Given the description of an element on the screen output the (x, y) to click on. 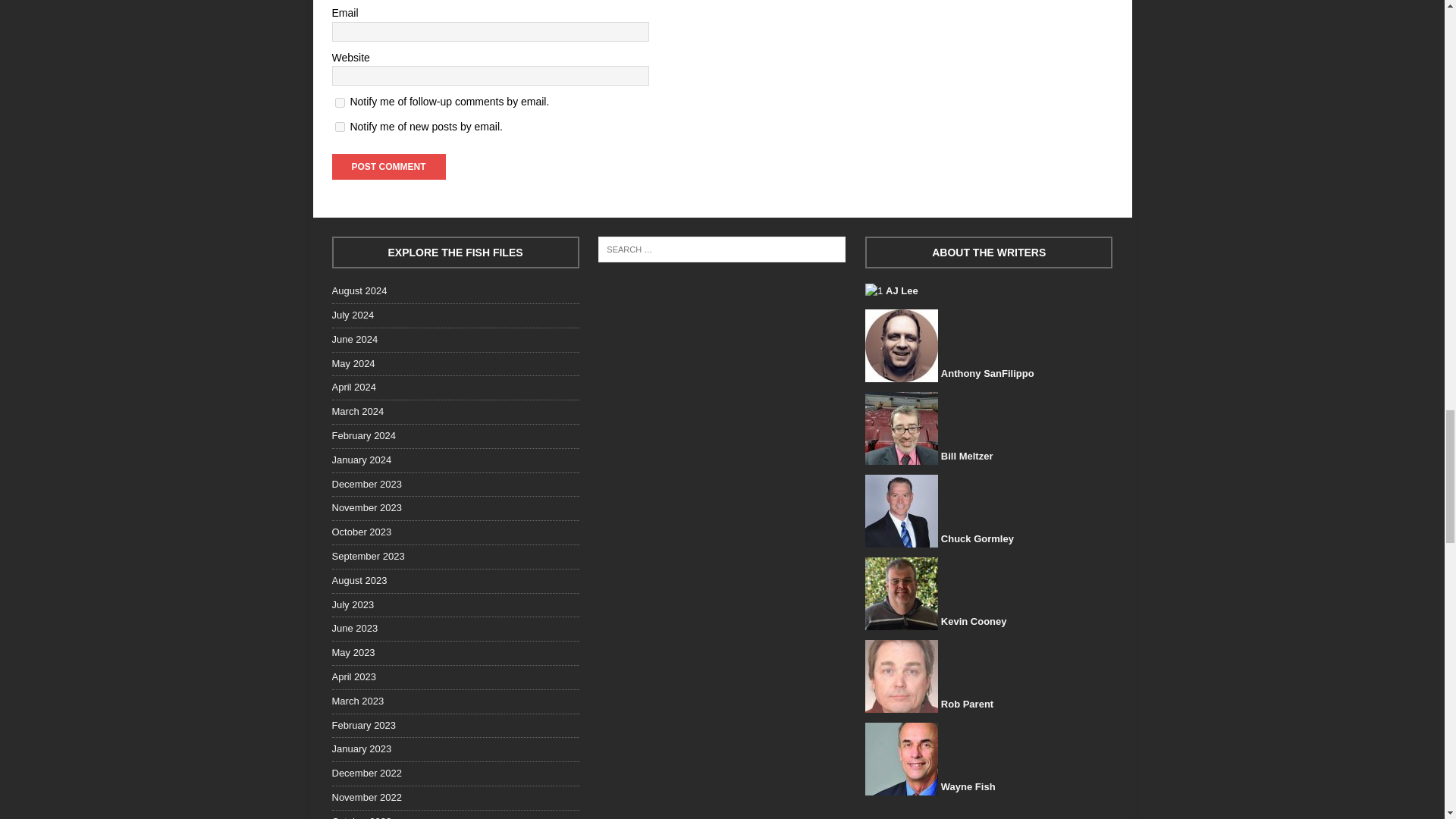
subscribe (339, 126)
Post Comment (388, 166)
subscribe (339, 102)
Post Comment (388, 166)
